Given the description of an element on the screen output the (x, y) to click on. 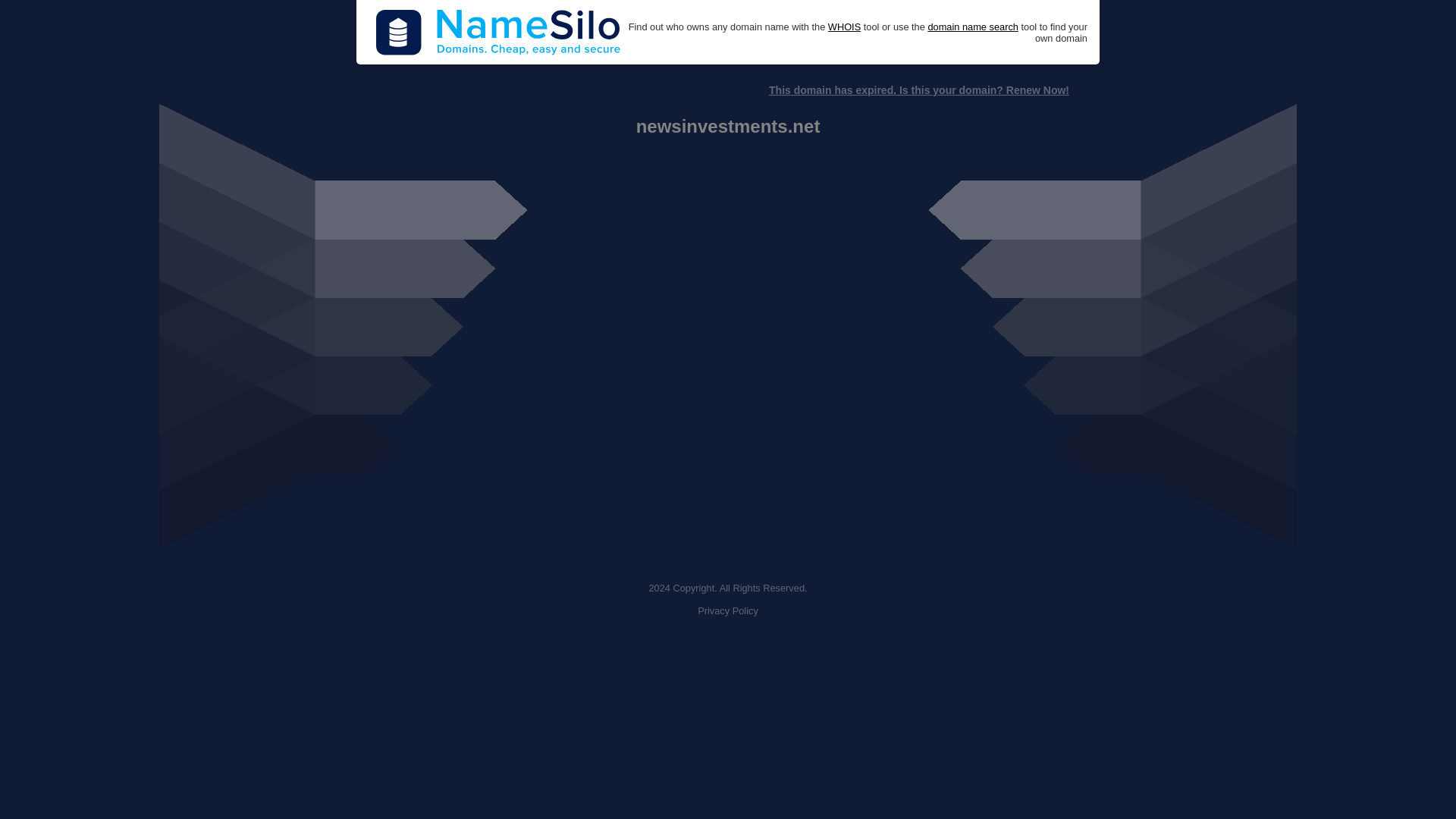
WHOIS (844, 26)
This domain has expired. Is this your domain? Renew Now! (918, 90)
domain name search (972, 26)
Privacy Policy (727, 610)
